Given the description of an element on the screen output the (x, y) to click on. 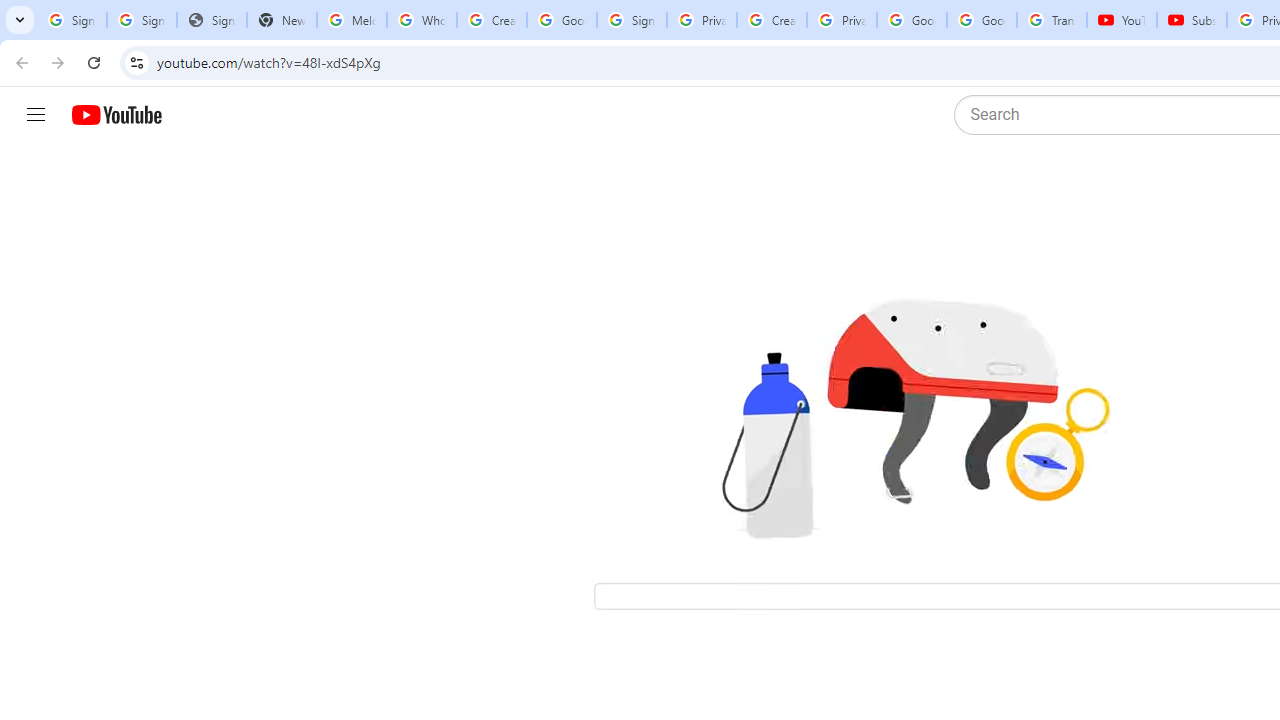
Subscriptions - YouTube (1192, 20)
YouTube (1121, 20)
Create your Google Account (492, 20)
New Tab (282, 20)
